Given the description of an element on the screen output the (x, y) to click on. 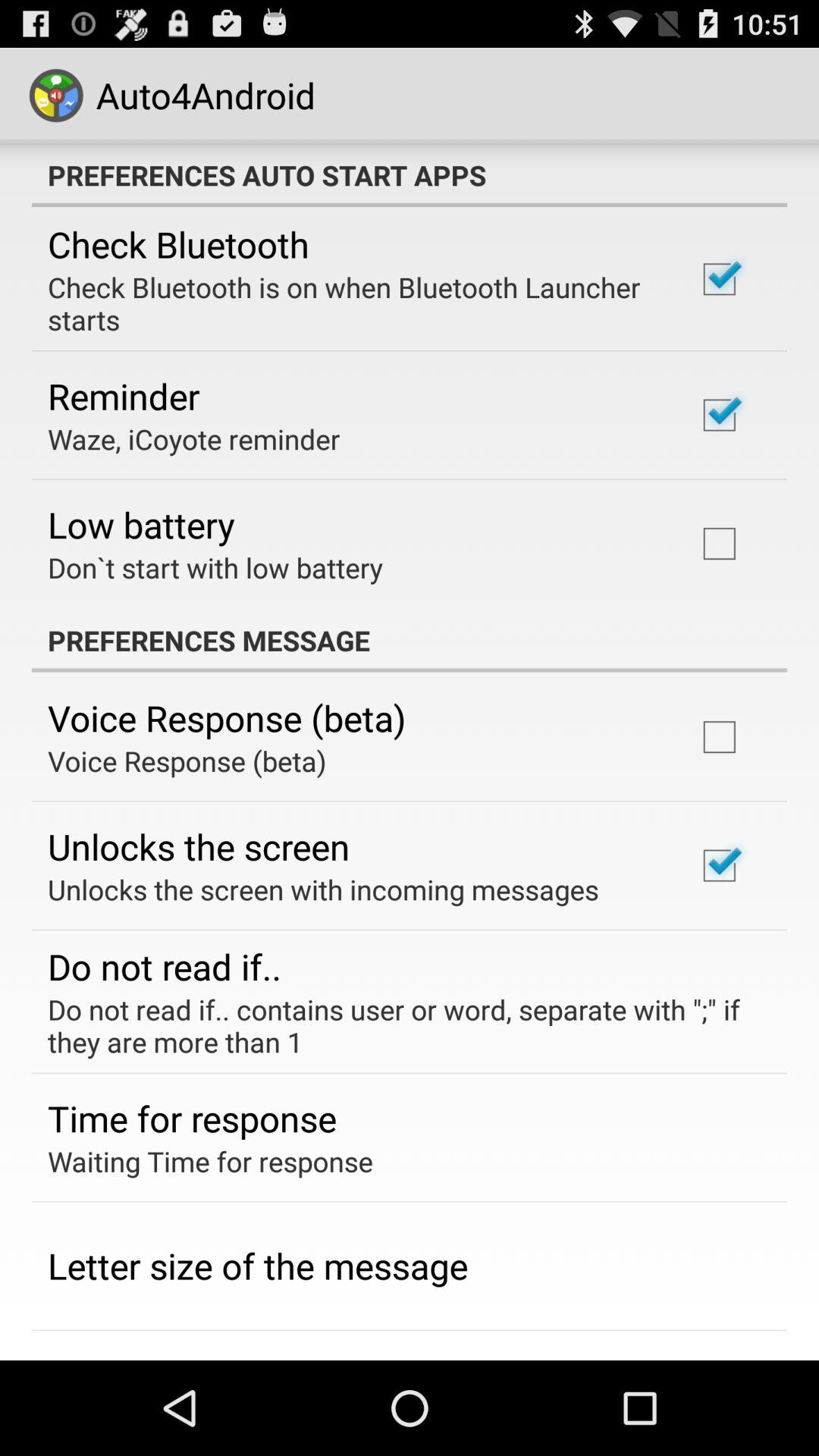
launch the preferences message item (409, 640)
